Given the description of an element on the screen output the (x, y) to click on. 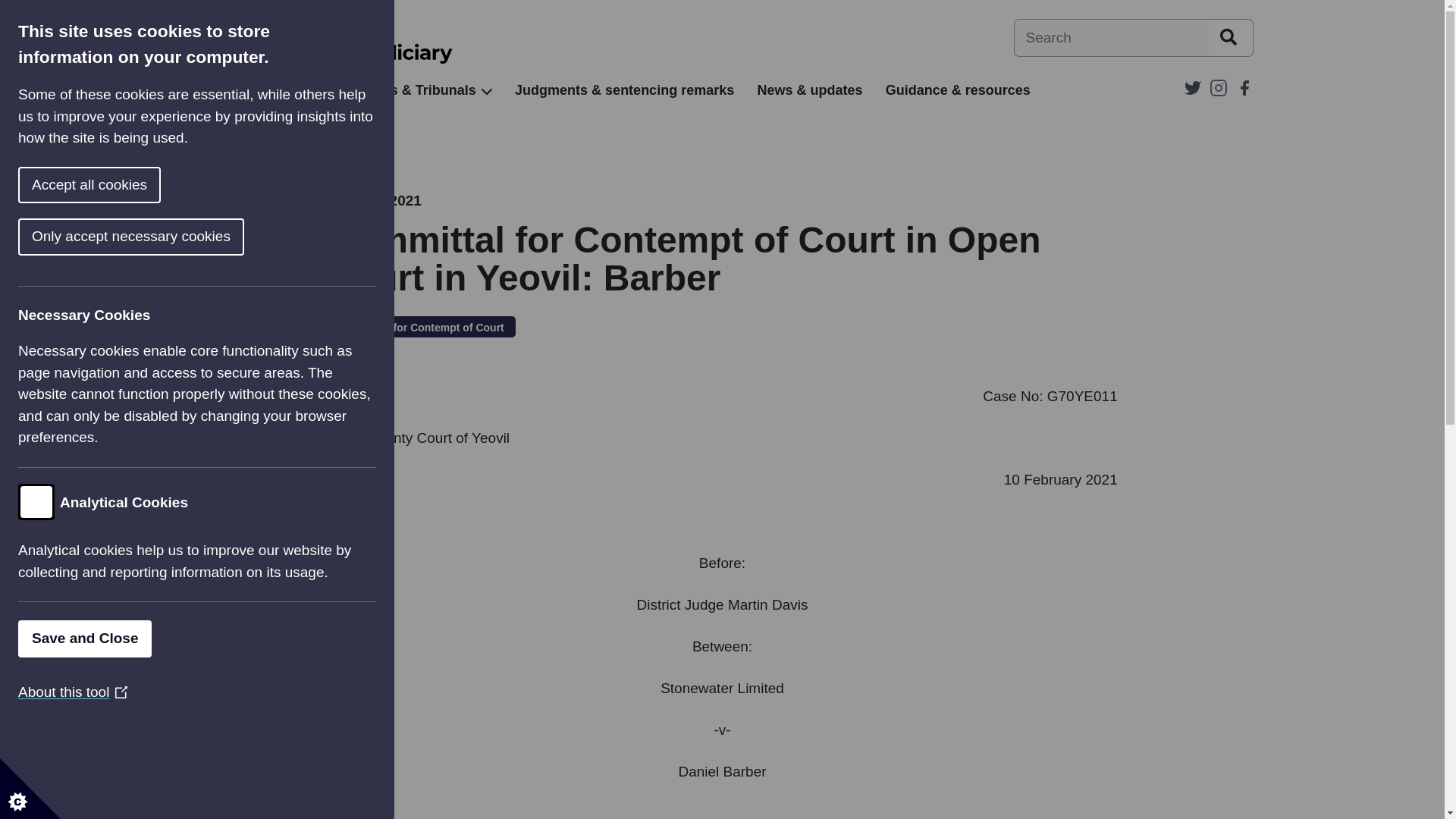
About the judiciary (252, 90)
Skip to main content (11, 7)
Only accept necessary cookies (90, 236)
Save and Close (61, 638)
Accept all cookies (32, 185)
